Given the description of an element on the screen output the (x, y) to click on. 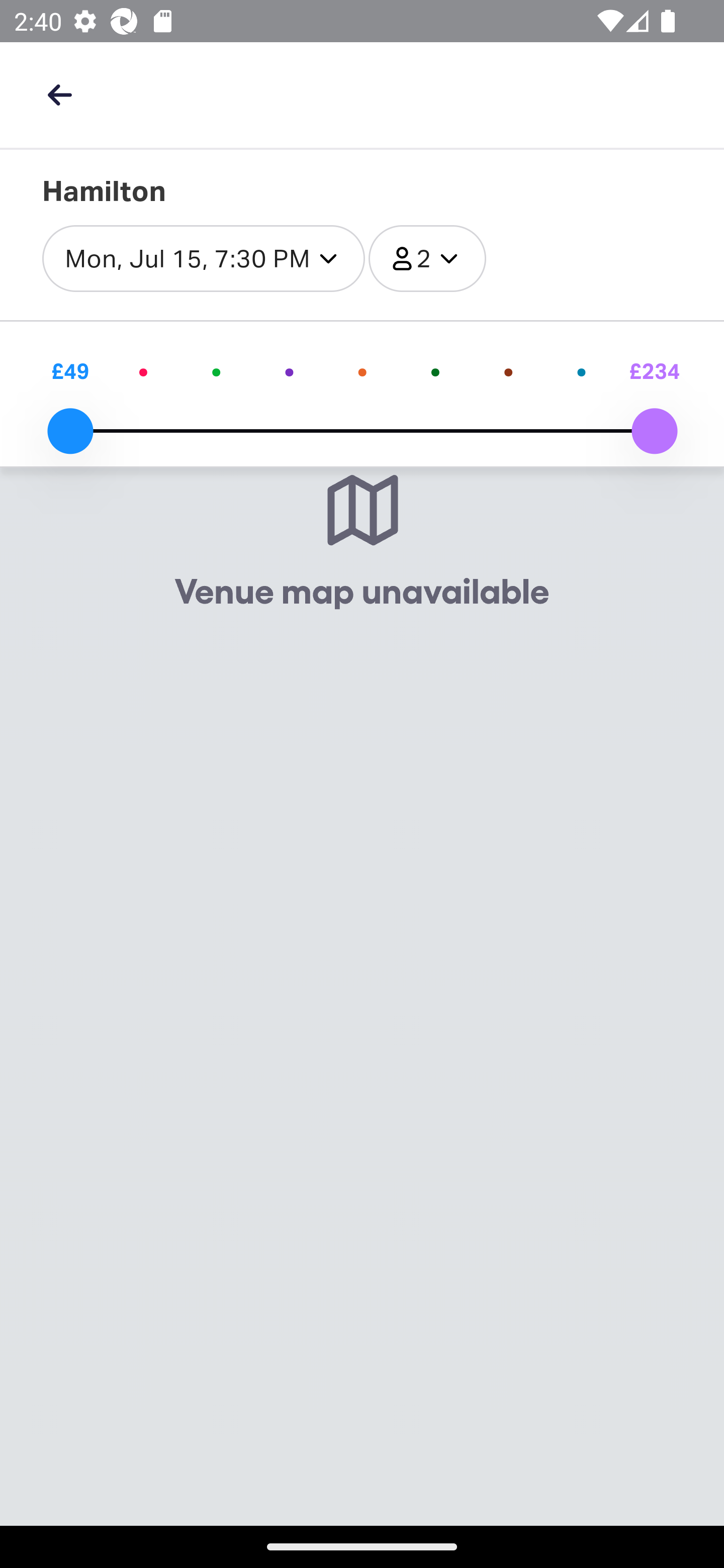
back button (59, 94)
Mon, Jul 15, 7:30 PM (203, 259)
2 (427, 259)
£49 (70, 370)
• (143, 370)
• (216, 370)
• (289, 370)
• (362, 370)
• (435, 370)
• (508, 370)
• (580, 370)
£234 (653, 370)
0.0 (69, 431)
100.0 (654, 431)
